Given the description of an element on the screen output the (x, y) to click on. 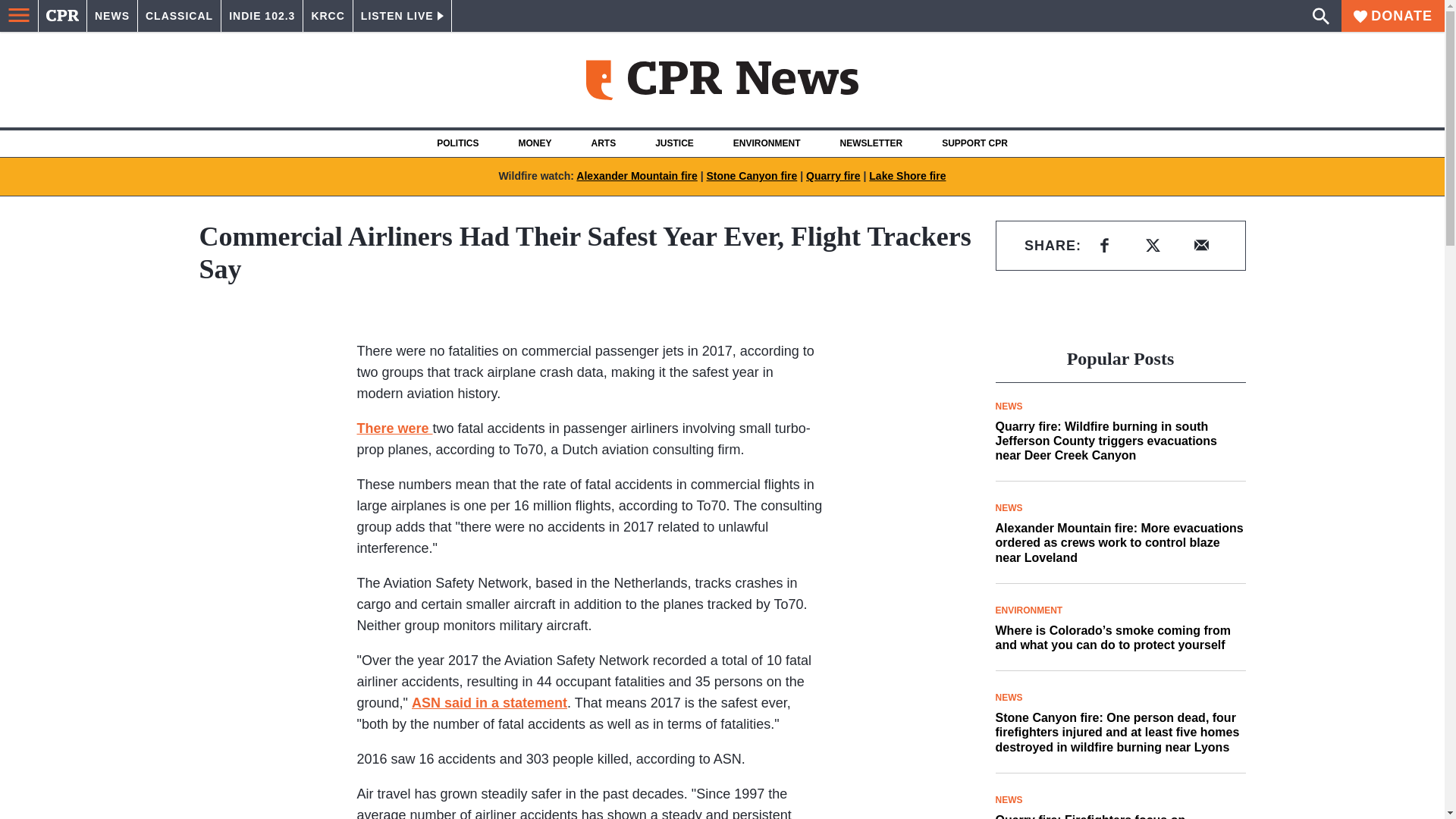
CLASSICAL (179, 15)
KRCC (327, 15)
NEWS (111, 15)
LISTEN LIVE (402, 15)
INDIE 102.3 (261, 15)
